Given the description of an element on the screen output the (x, y) to click on. 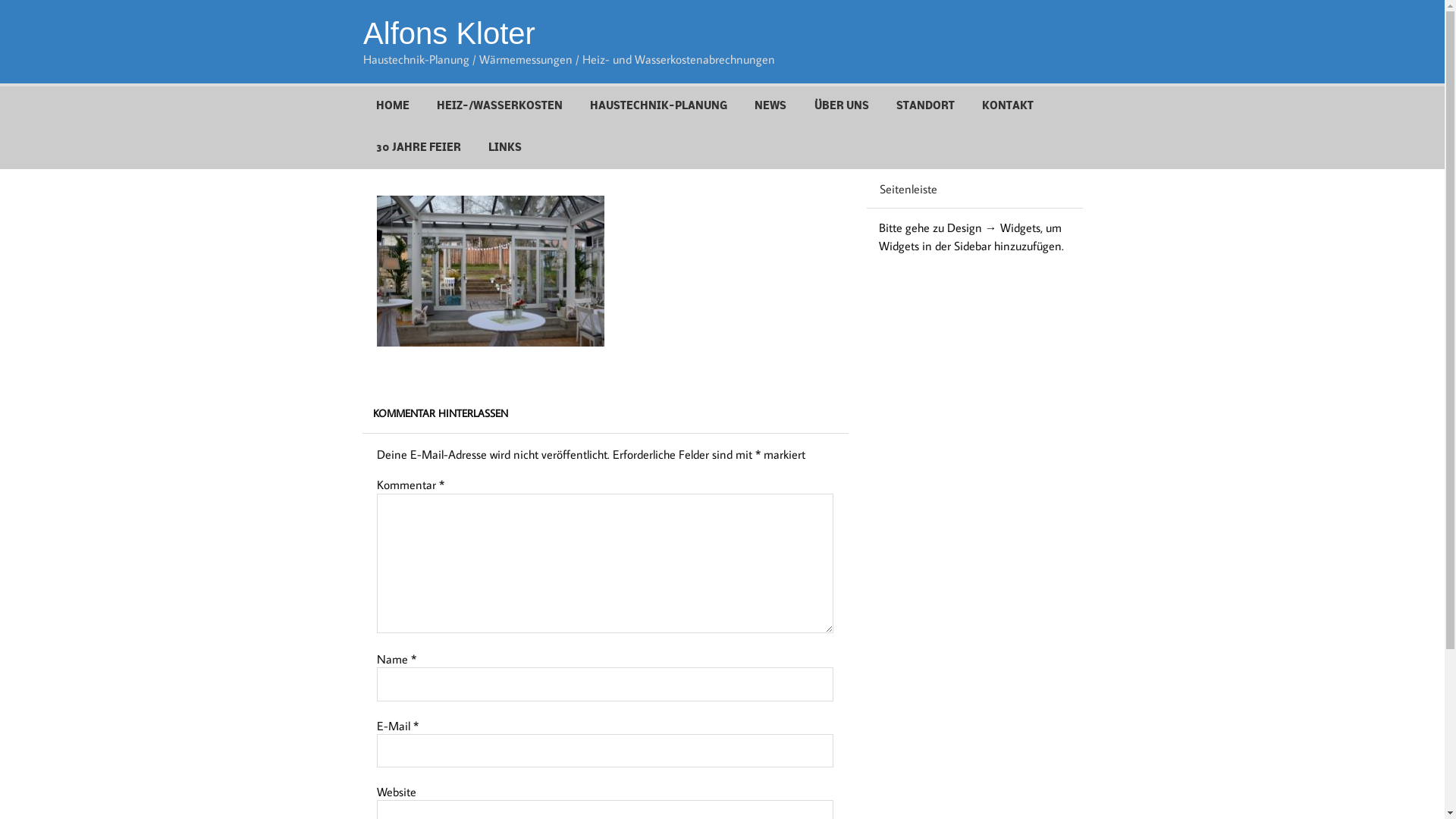
HOME Element type: text (392, 106)
HAUSTECHNIK-PLANUNG Element type: text (658, 106)
Alfons Kloter Element type: text (449, 33)
30 JAHRE FEIER Element type: text (418, 148)
LINKS Element type: text (504, 148)
HEIZ-/WASSERKOSTEN Element type: text (499, 106)
STANDORT Element type: text (925, 106)
KONTAKT Element type: text (1007, 106)
NEWS Element type: text (770, 106)
